Given the description of an element on the screen output the (x, y) to click on. 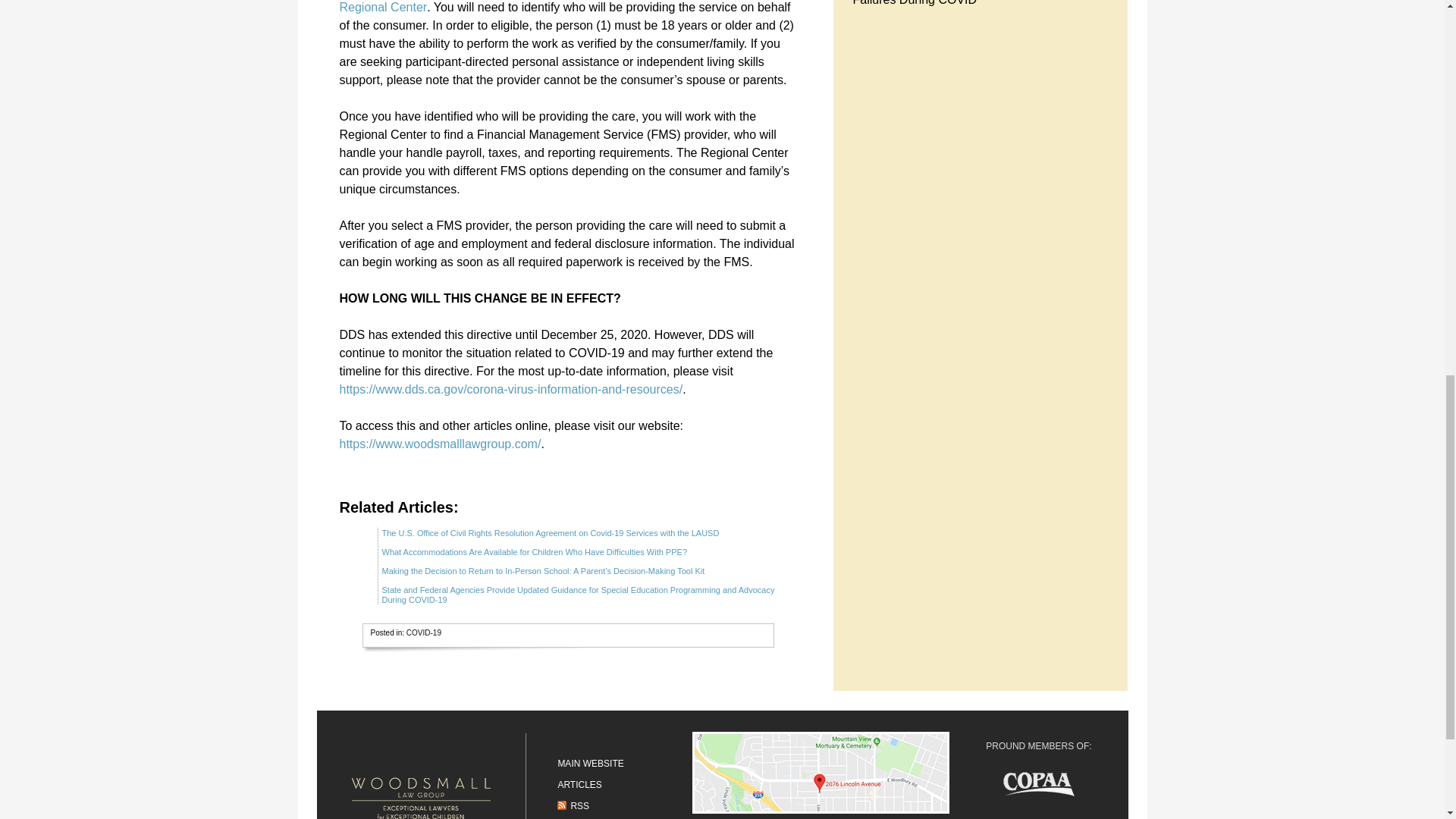
COVID-19 (423, 632)
ARTICLES (579, 784)
LAUSD Sanctioned for Special Education Failures During COVID (963, 2)
Regional Center (383, 6)
MAIN WEBSITE (590, 763)
RSS (573, 805)
